Given the description of an element on the screen output the (x, y) to click on. 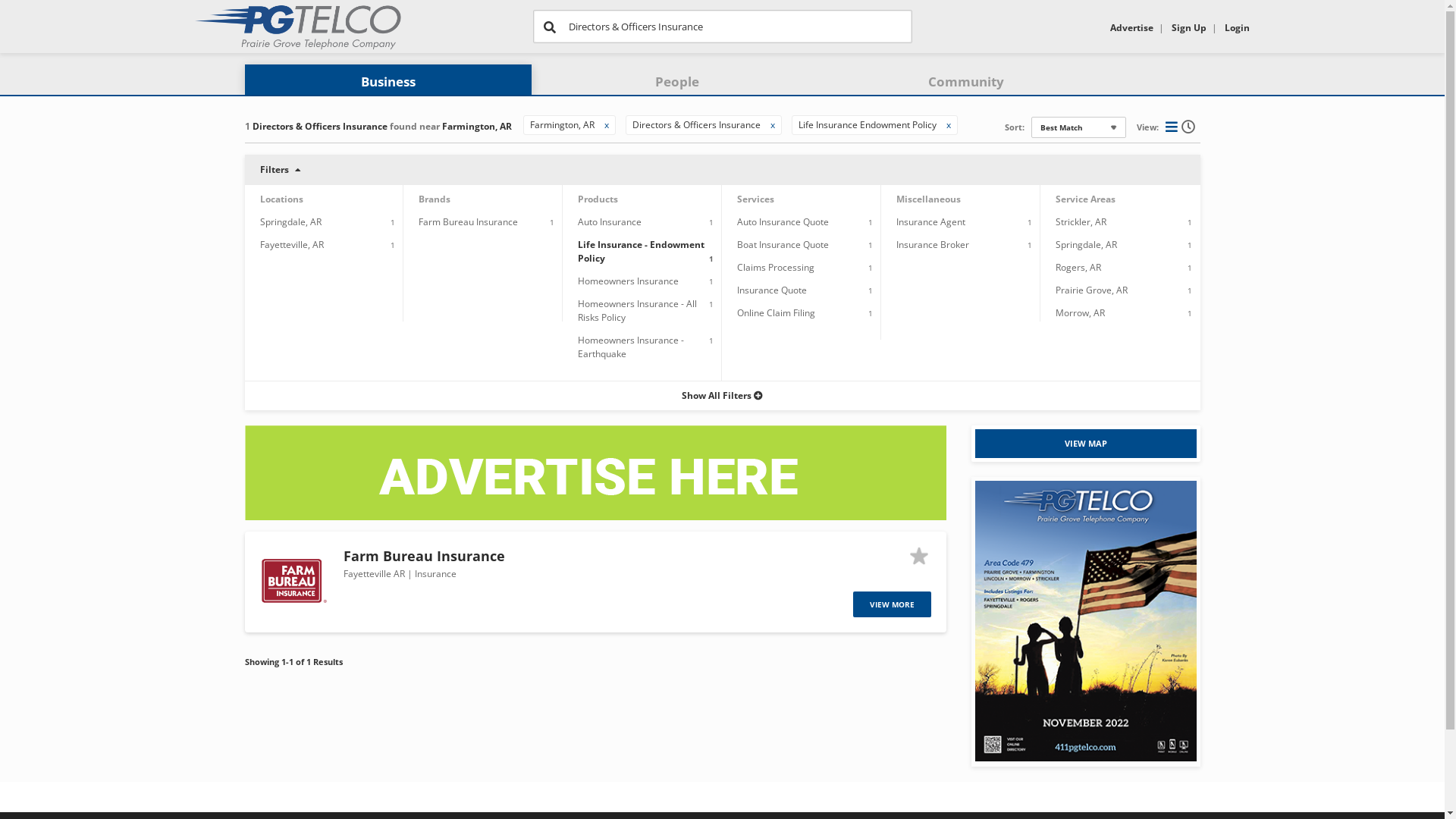
x Element type: text (605, 124)
Homeowners Insurance - Earthquake Element type: text (630, 346)
Claims Processing Element type: text (775, 266)
Filters Element type: text (721, 169)
Boat Insurance Quote Element type: text (782, 244)
Homeowners Insurance - All Risks Policy Element type: text (636, 310)
People Element type: text (677, 81)
Springdale, AR Element type: text (1086, 244)
Login Element type: text (1235, 27)
Strickler, AR Element type: text (1080, 221)
Farm Bureau Insurance Element type: text (423, 555)
Prairie Grove, AR Element type: text (1091, 289)
Fayetteville, AR Element type: text (291, 244)
Homeowners Insurance Element type: text (627, 280)
Sign Up Element type: text (1187, 27)
Morrow, AR Element type: text (1079, 312)
Advertise Element type: text (1131, 27)
Show All Filters Element type: text (721, 395)
Farm Bureau Insurance Element type: text (467, 221)
Auto Insurance Quote Element type: text (782, 221)
Show Open Element type: hover (1189, 126)
VIEW MORE Element type: text (891, 604)
Insurance Agent Element type: text (930, 221)
Community Element type: text (966, 81)
Online Claim Filing Element type: text (776, 312)
Auto Insurance Element type: text (609, 221)
Springdale, AR Element type: text (289, 221)
Insurance Broker Element type: text (932, 244)
x Element type: text (948, 124)
Rogers, AR Element type: text (1078, 266)
VIEW MAP Element type: text (1085, 443)
Silver Element type: hover (920, 556)
Insurance Quote Element type: text (771, 289)
x Element type: text (772, 124)
